Given the description of an element on the screen output the (x, y) to click on. 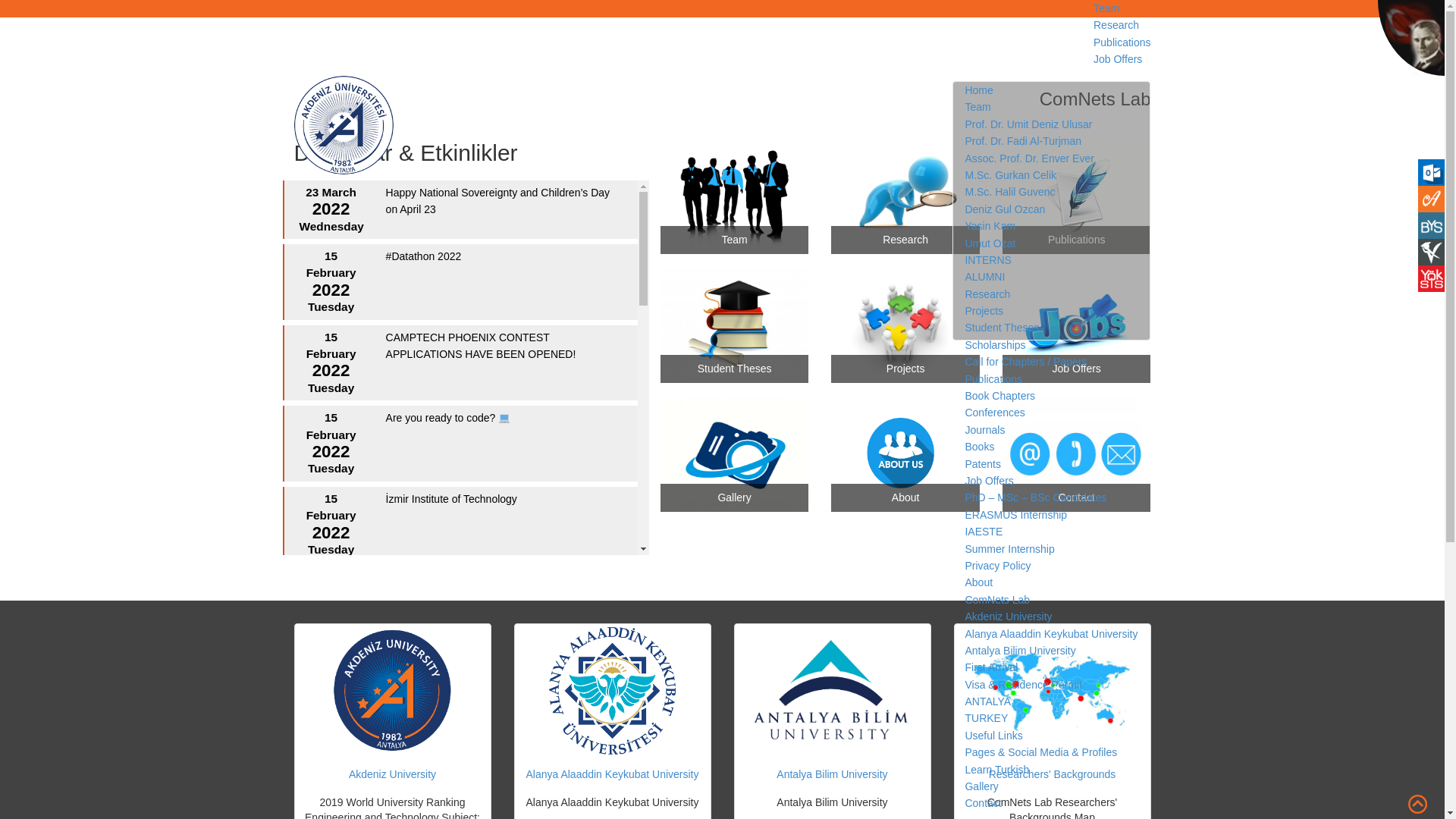
Student Theses (1001, 334)
ALUMNI (983, 281)
IAESTE (983, 531)
Assoc. Prof. Dr. Enver Ever (1028, 256)
Deniz Gul Ozcan (1004, 209)
Journals (983, 428)
Home (977, 594)
Team (976, 430)
Books (978, 446)
Summer Internship (1008, 548)
Book Chapters (999, 391)
About (977, 582)
Yasin Kam (988, 214)
Research (986, 299)
Patents (981, 463)
